Given the description of an element on the screen output the (x, y) to click on. 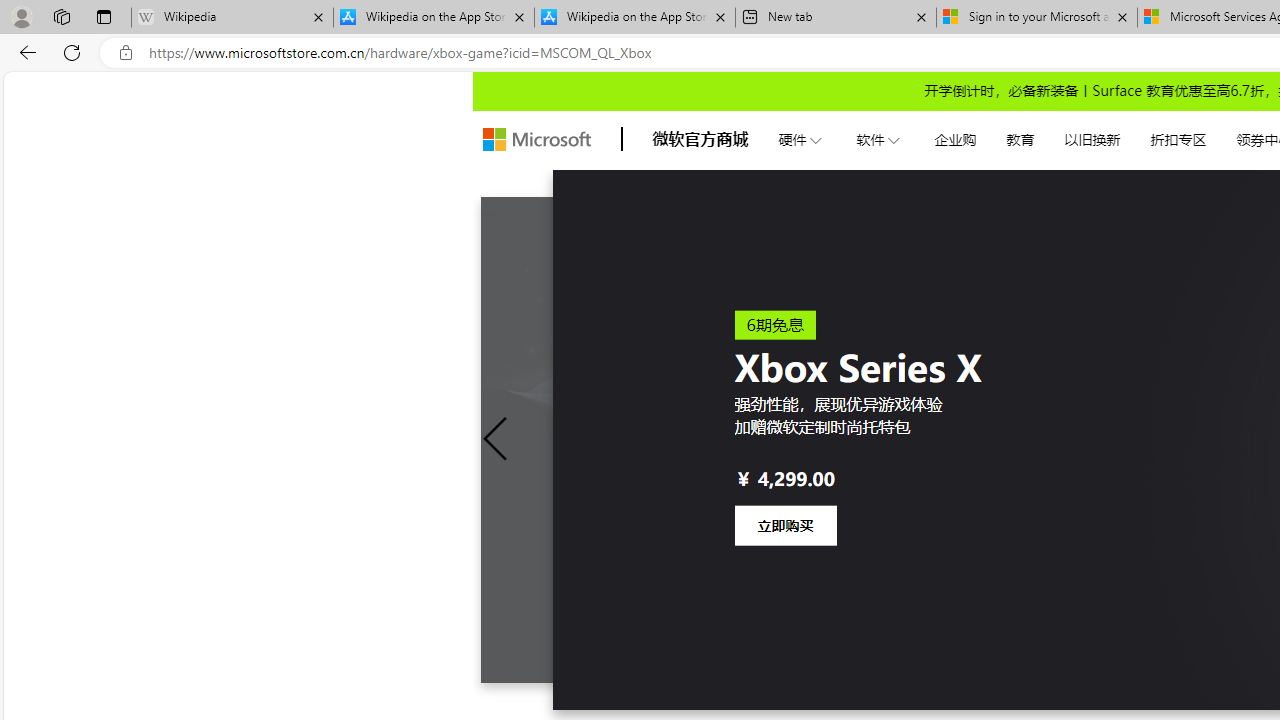
Microsoft (536, 139)
Xbox Series X (971, 439)
